Given the description of an element on the screen output the (x, y) to click on. 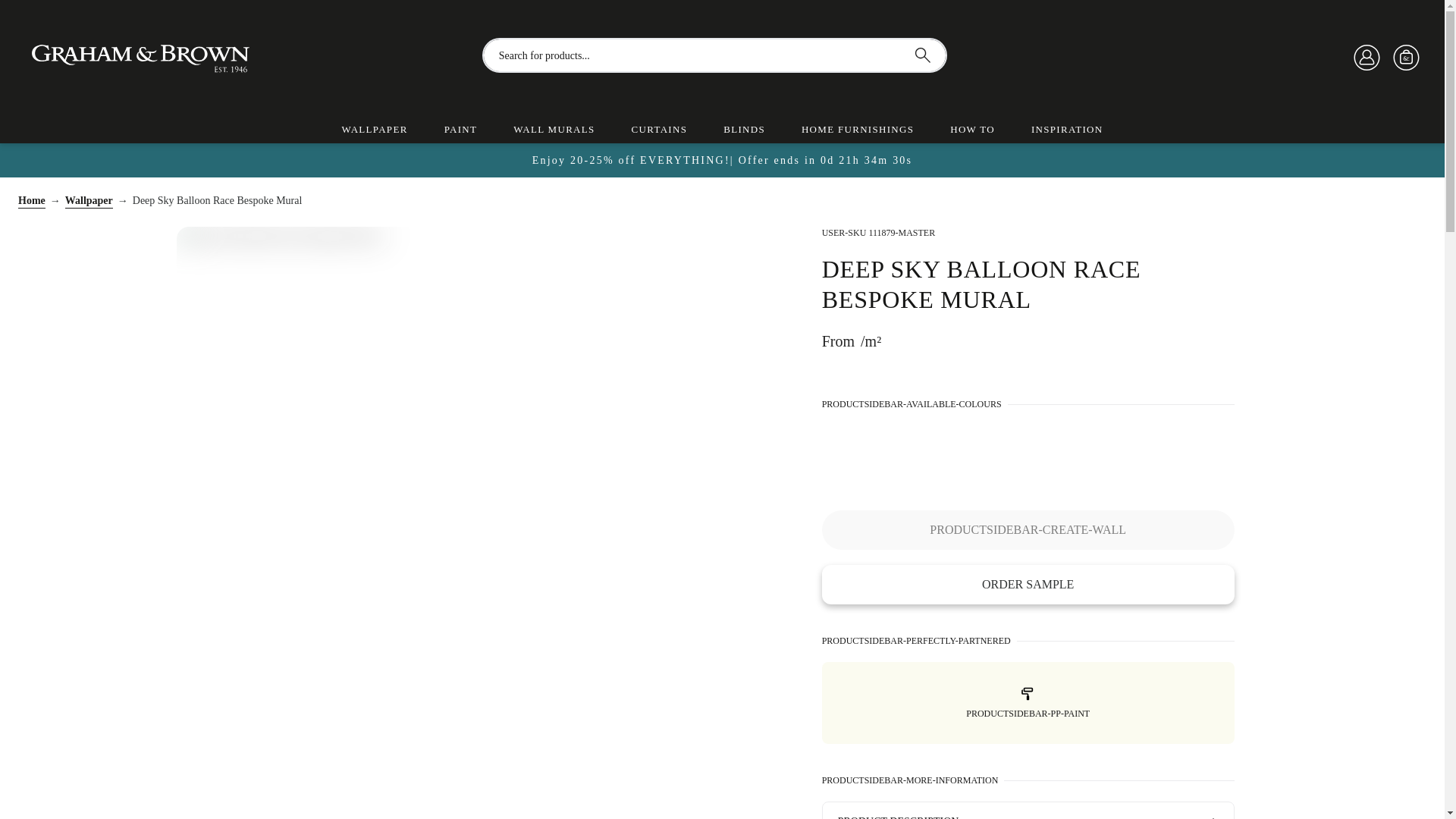
productview-go-to Wallpaper (89, 201)
Balloon Race Bespoke Mural (906, 452)
WALLPAPER (374, 129)
usernav-title (1407, 57)
productsidebar-create-wall (1028, 529)
Deep Sky Balloon Race Bespoke Mural (849, 452)
sign-in (1367, 57)
order sample (1028, 584)
navbar-title (160, 54)
